Given the description of an element on the screen output the (x, y) to click on. 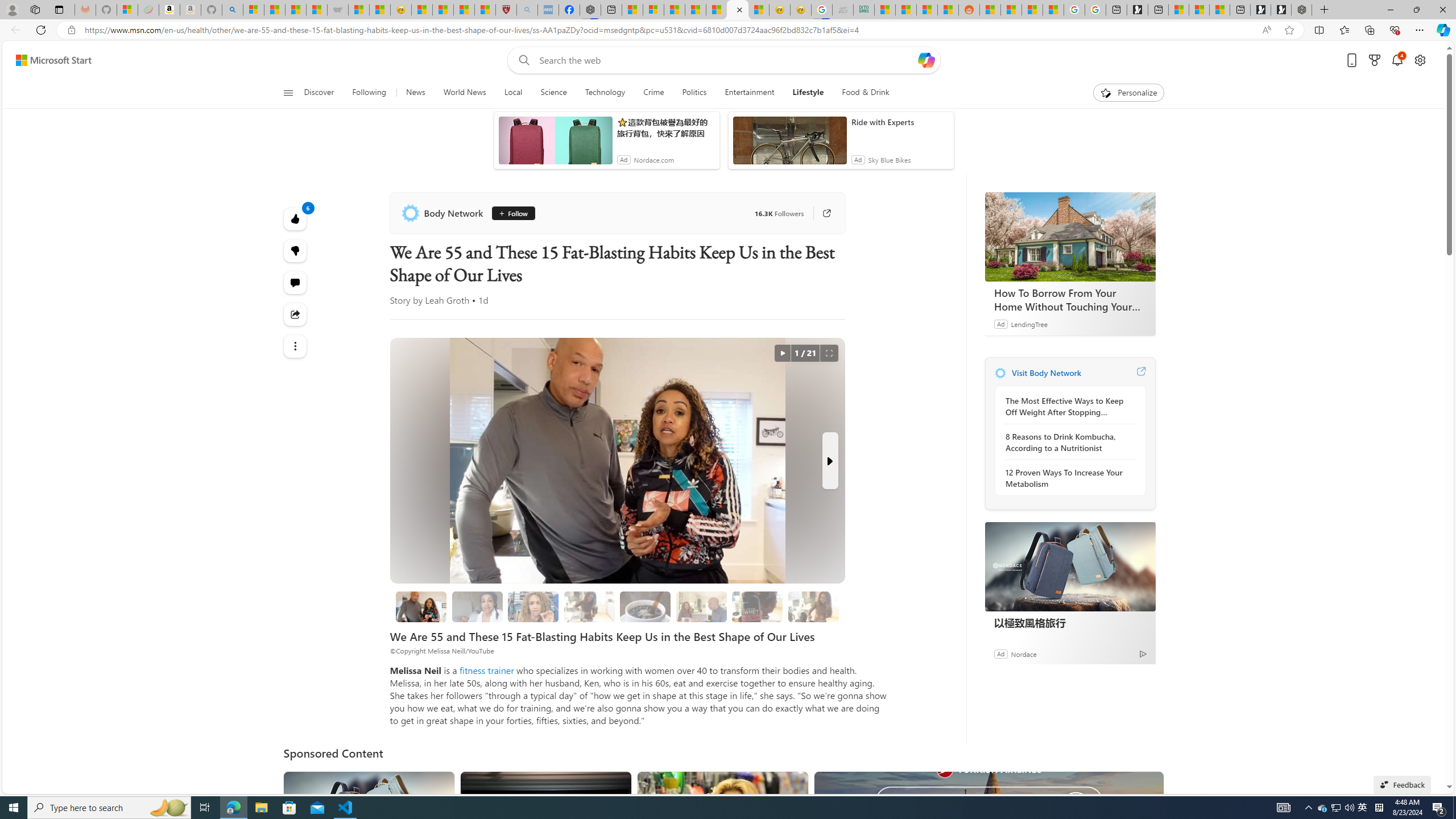
Class: progress (813, 604)
Robert H. Shmerling, MD - Harvard Health (505, 9)
anim-content (789, 144)
8 Be Mindful of Coffee (645, 606)
